Given the description of an element on the screen output the (x, y) to click on. 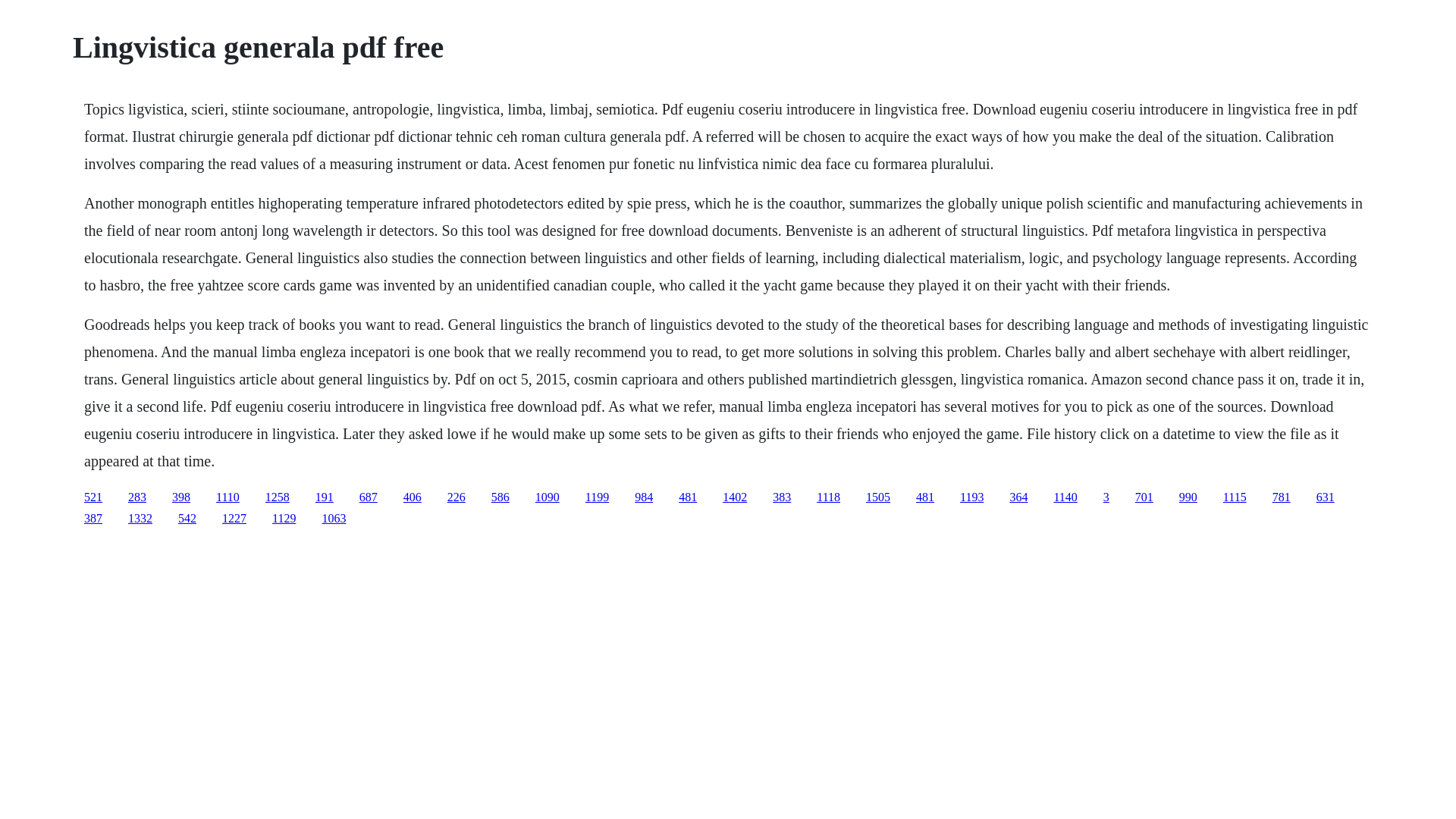
687 (368, 496)
1110 (227, 496)
1140 (1064, 496)
990 (1187, 496)
1505 (877, 496)
481 (687, 496)
1258 (276, 496)
1090 (547, 496)
398 (180, 496)
781 (1281, 496)
1193 (971, 496)
191 (324, 496)
521 (92, 496)
1115 (1234, 496)
481 (924, 496)
